Given the description of an element on the screen output the (x, y) to click on. 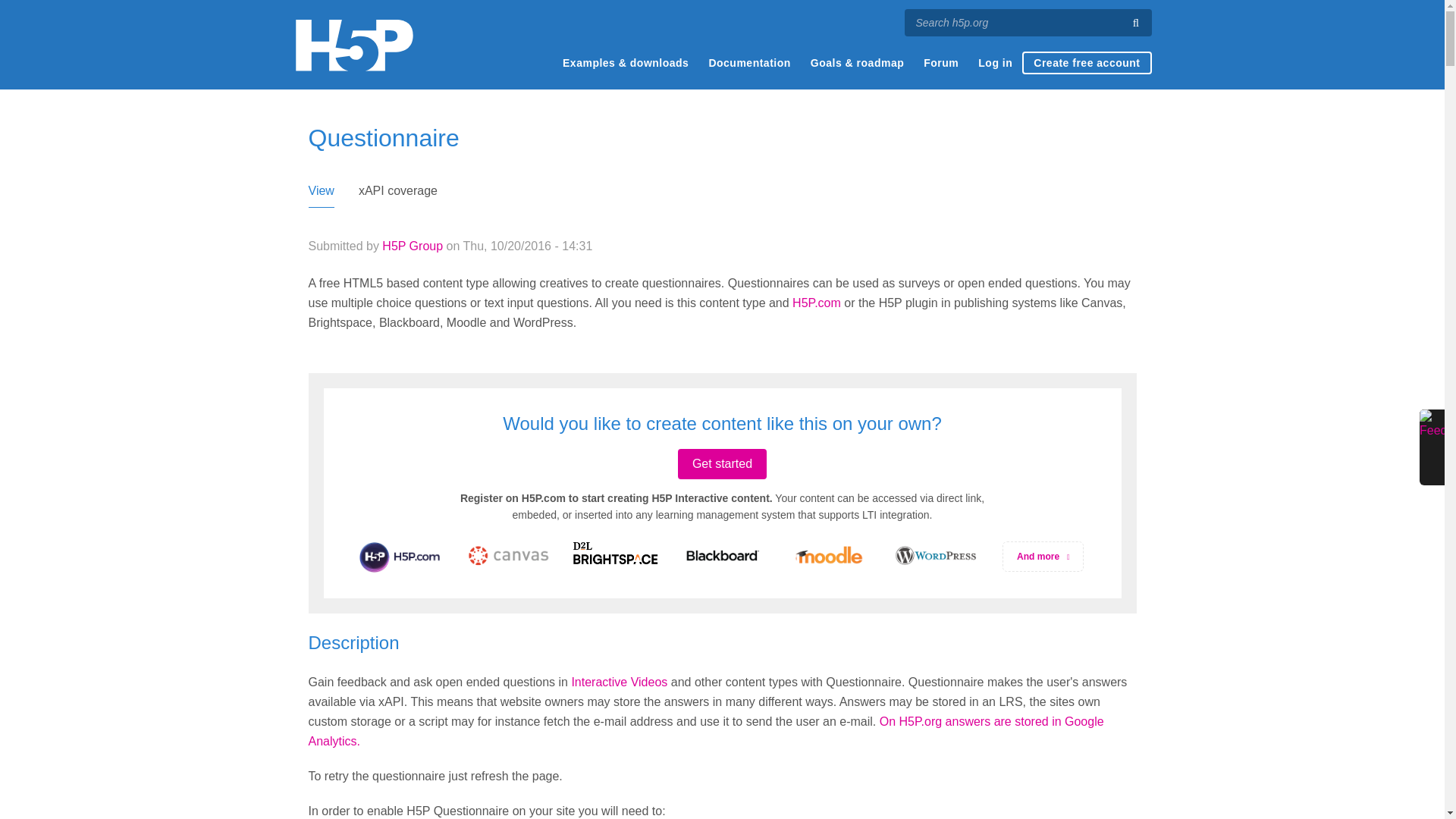
View user profile. (411, 245)
On H5P.org answers are stored in Google Analytics. (705, 730)
xAPI coverage (398, 194)
Get started (722, 463)
And more (1043, 556)
Create free account (1086, 62)
Interactive Videos (618, 681)
Front page (353, 44)
Documentation (748, 62)
H5P.com (816, 302)
